Given the description of an element on the screen output the (x, y) to click on. 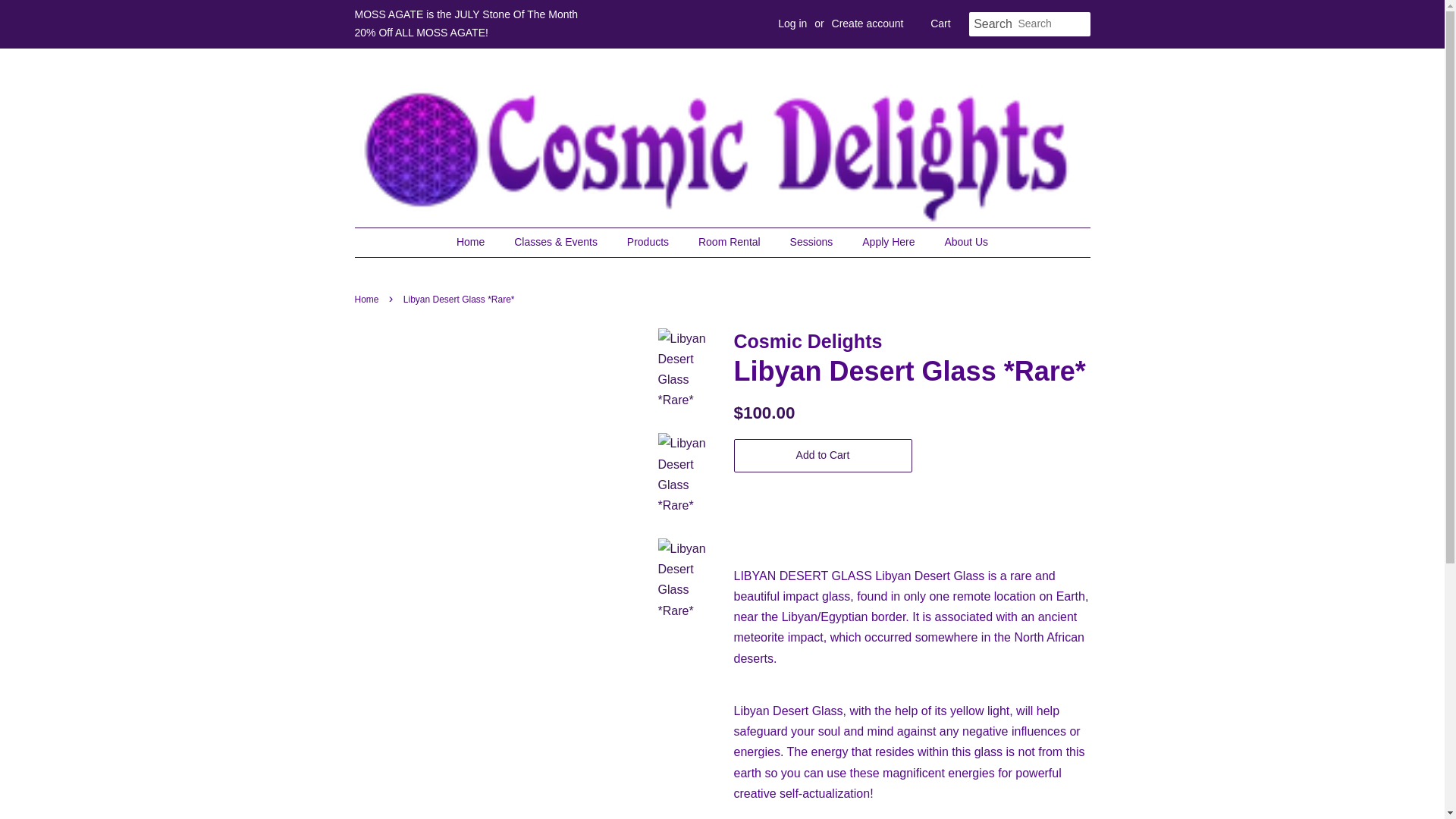
Products (649, 242)
Search (993, 24)
Log in (791, 23)
Cart (940, 24)
Create account (867, 23)
Back to the frontpage (368, 299)
Home (478, 242)
